Given the description of an element on the screen output the (x, y) to click on. 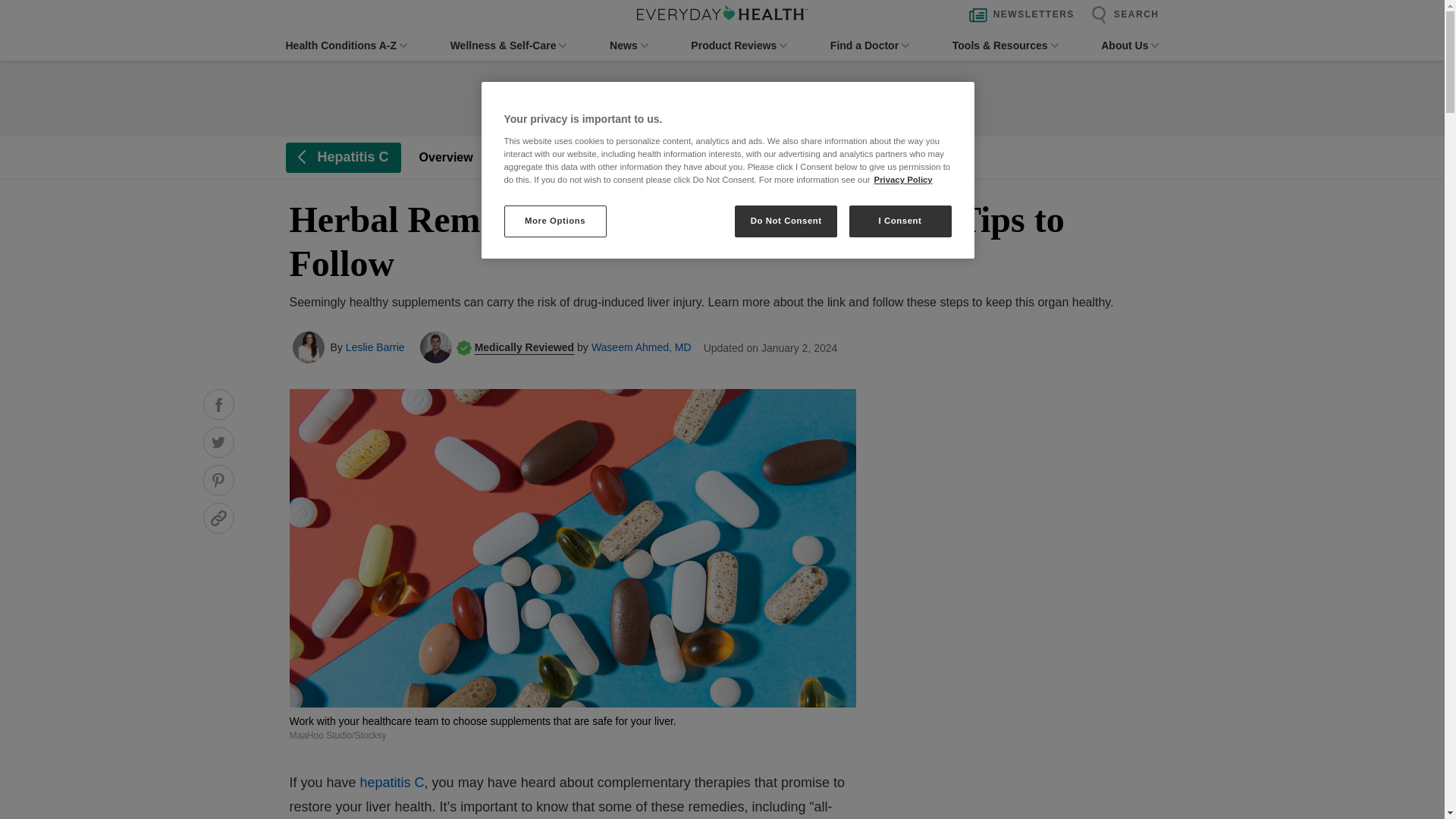
Product Reviews (738, 45)
News (628, 45)
NEWSLETTERS (1018, 15)
About Us (1129, 45)
SEARCH (1120, 15)
Find a Doctor (868, 45)
Health Conditions A-Z (345, 45)
